Given the description of an element on the screen output the (x, y) to click on. 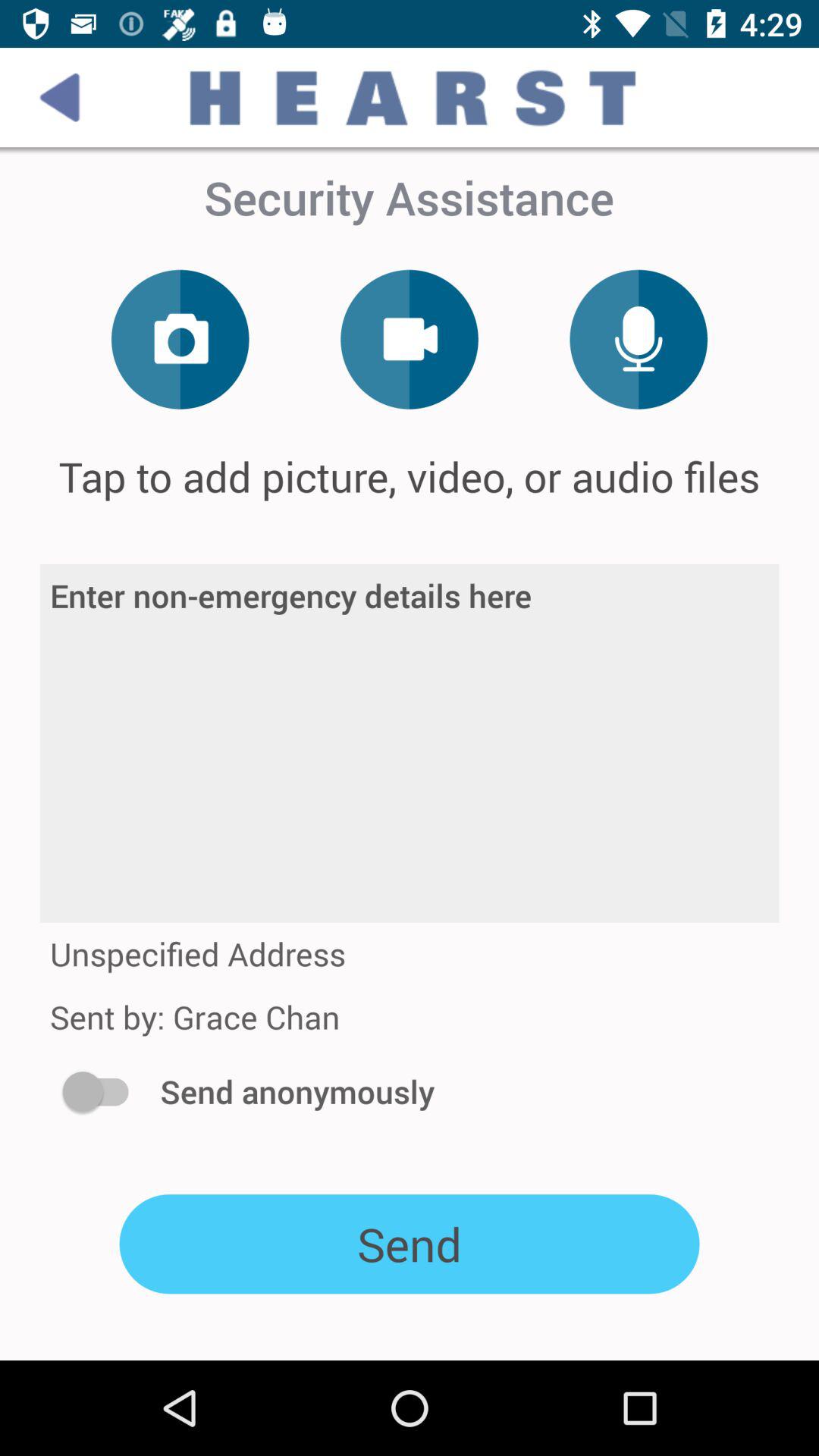
press item above unspecified address (409, 743)
